Given the description of an element on the screen output the (x, y) to click on. 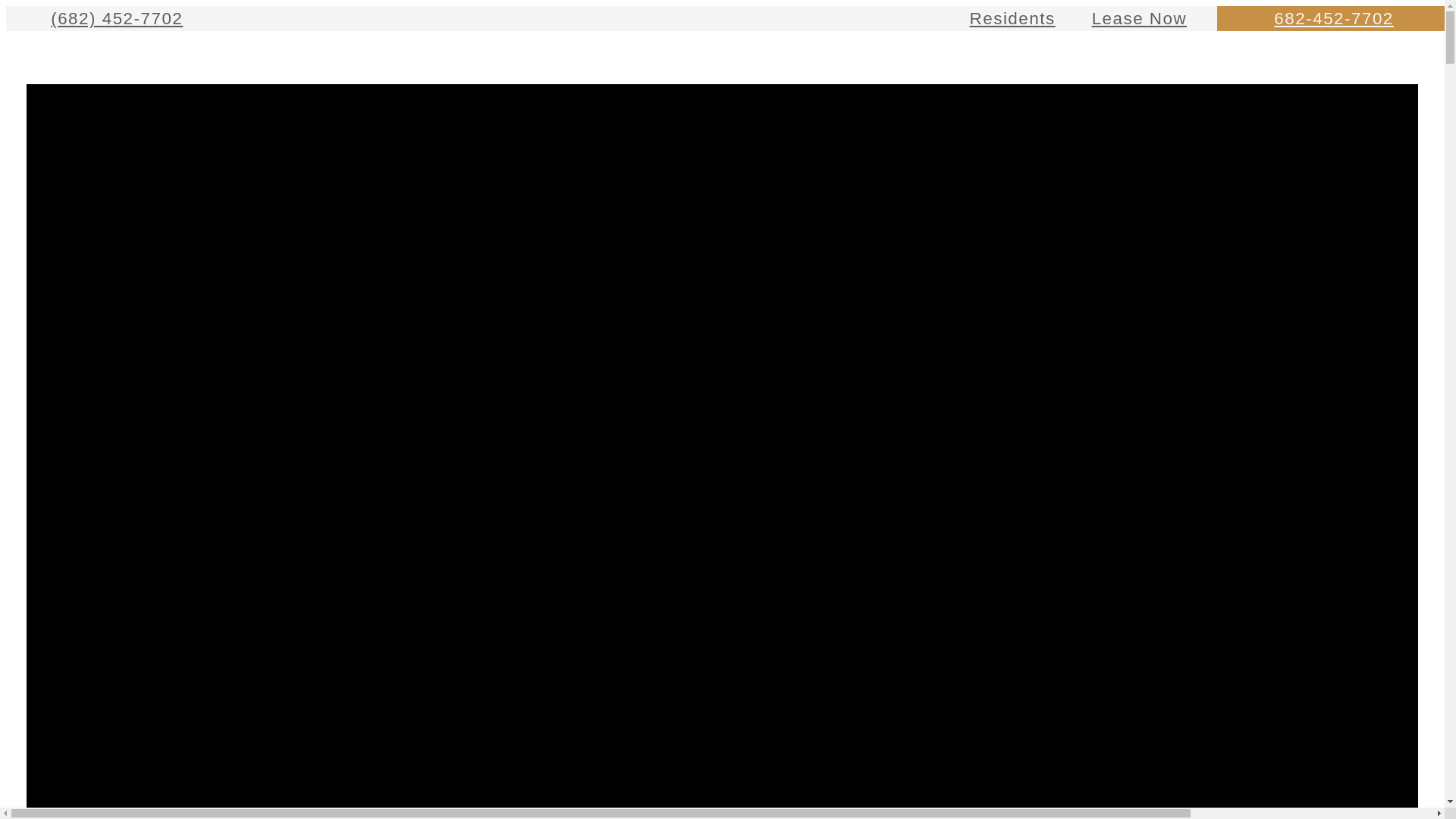
682-452-7702 Element type: text (1333, 18)
(682) 452-7702 Element type: text (110, 18)
Residents Element type: text (1012, 18)
Lease Now Element type: text (1139, 18)
